Given the description of an element on the screen output the (x, y) to click on. 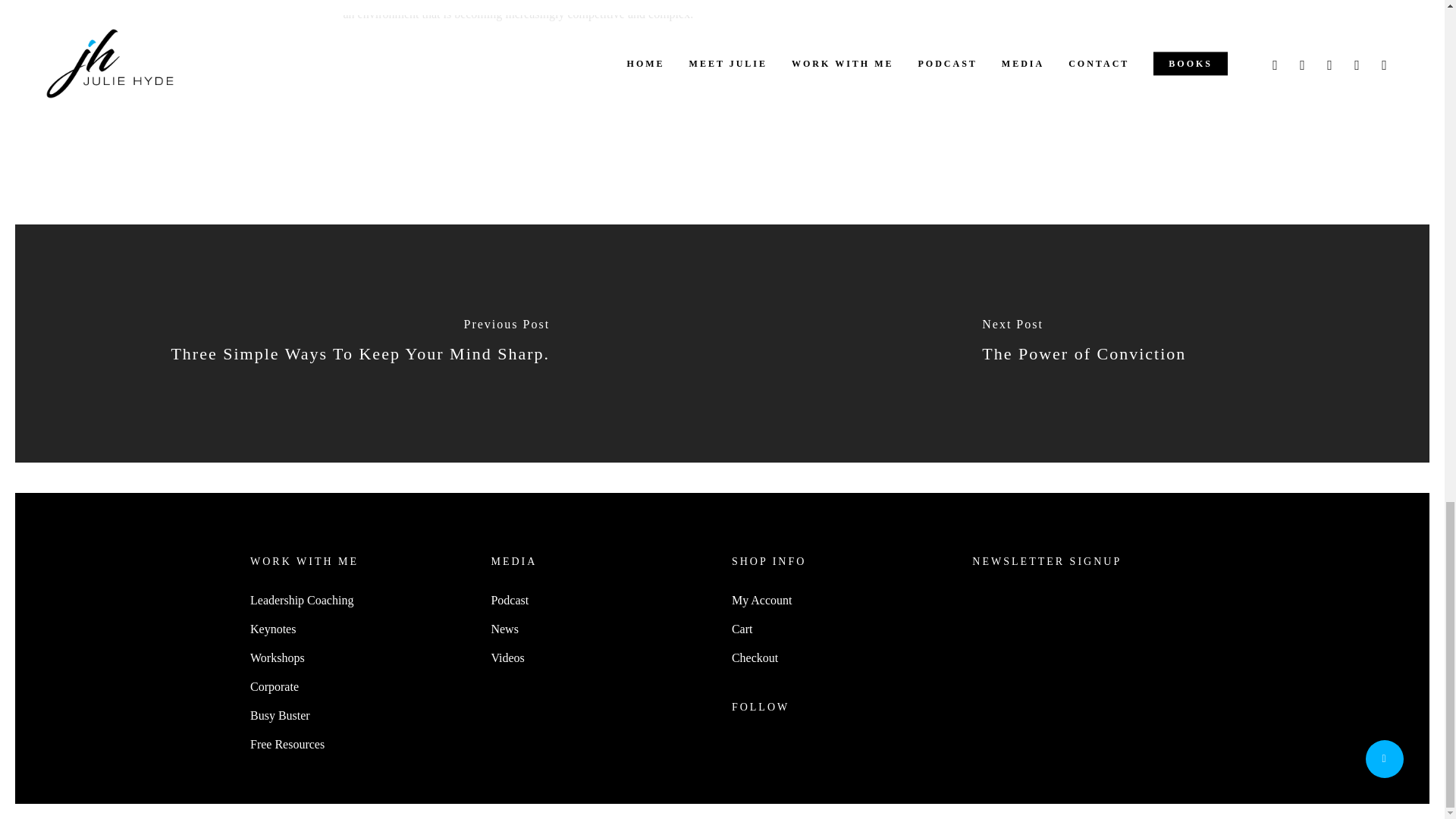
Workshops (360, 658)
Leadership Coaching (360, 599)
Keynotes (360, 629)
